Given the description of an element on the screen output the (x, y) to click on. 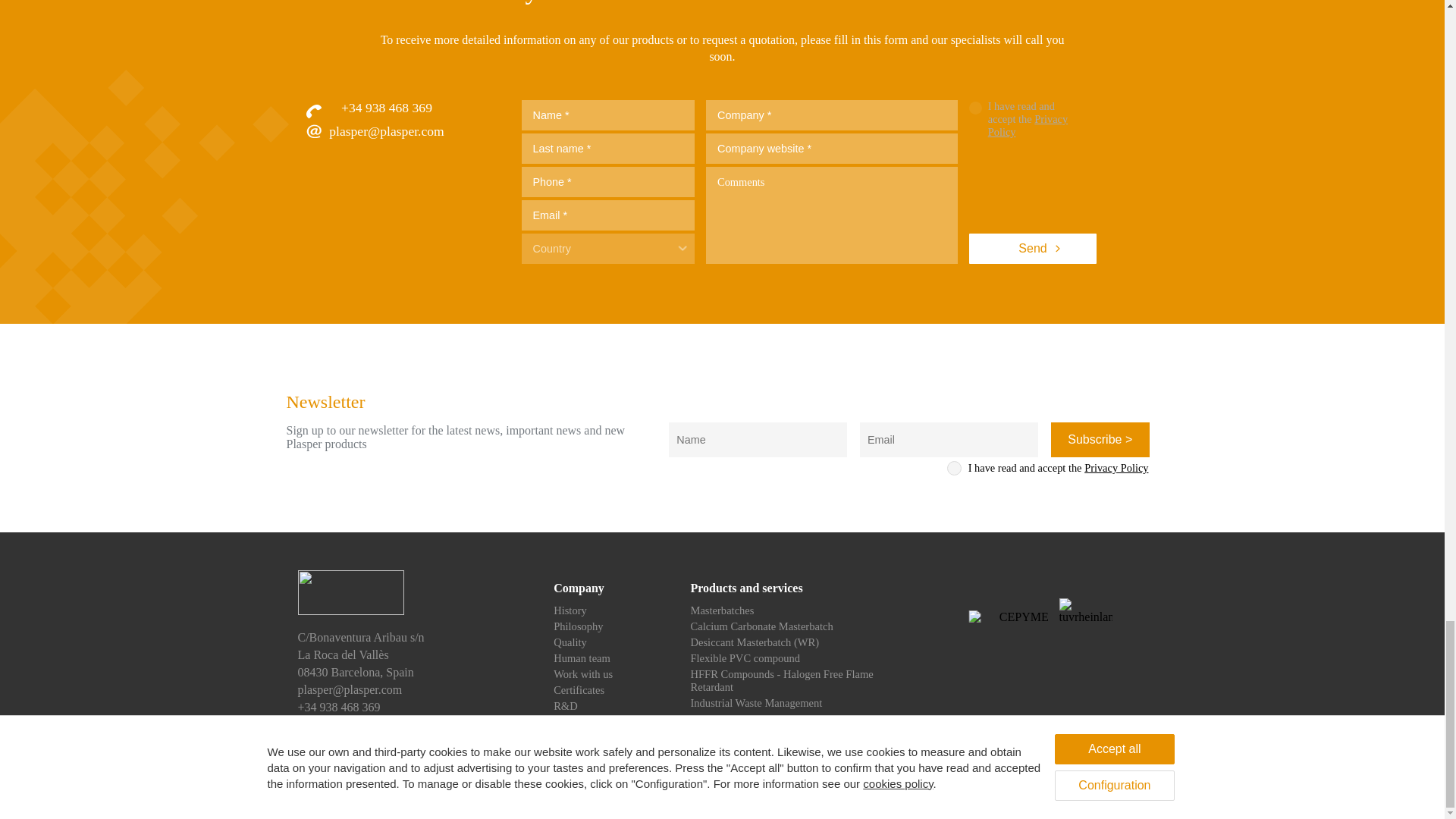
Company (578, 587)
Privacy Policy (1028, 125)
Environment (582, 721)
Industrial waste purchase (746, 734)
Industrial Waste Management (756, 702)
Send (1033, 248)
Products and services (746, 587)
Send (1033, 248)
Certificates (578, 689)
Privacy Policy (1116, 467)
Quality (569, 642)
Masterbatches (722, 610)
Human team (581, 657)
Philosophy (577, 625)
Calcium Carbonate Masterbatch (761, 625)
